Given the description of an element on the screen output the (x, y) to click on. 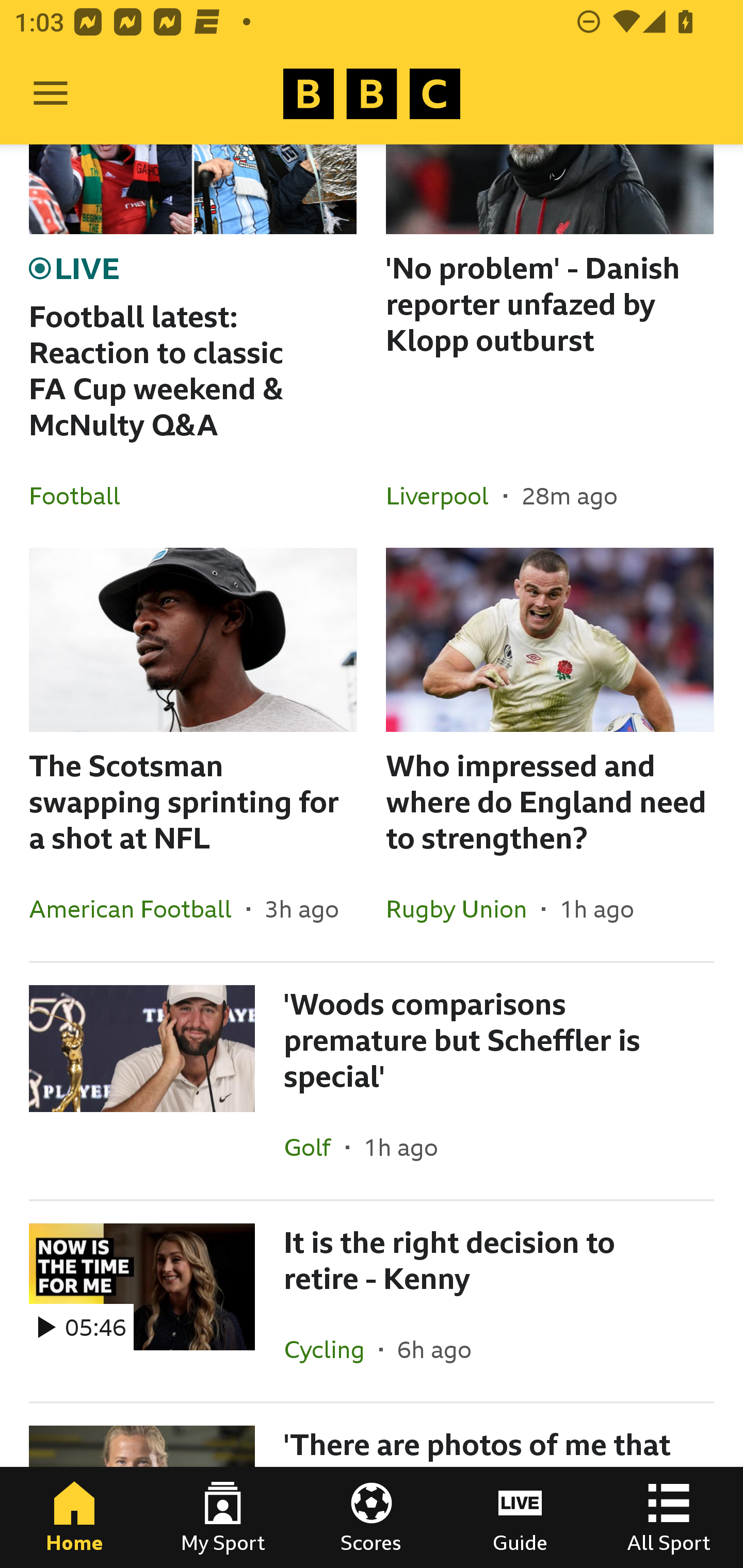
Open Menu (50, 93)
Football In the section Football (81, 495)
Liverpool In the section Liverpool (444, 495)
American Football In the section American Football (137, 908)
Rugby Union In the section Rugby Union (463, 908)
Golf In the section Golf (314, 1146)
Cycling In the section Cycling (330, 1348)
My Sport (222, 1517)
Scores (371, 1517)
Guide (519, 1517)
All Sport (668, 1517)
